Given the description of an element on the screen output the (x, y) to click on. 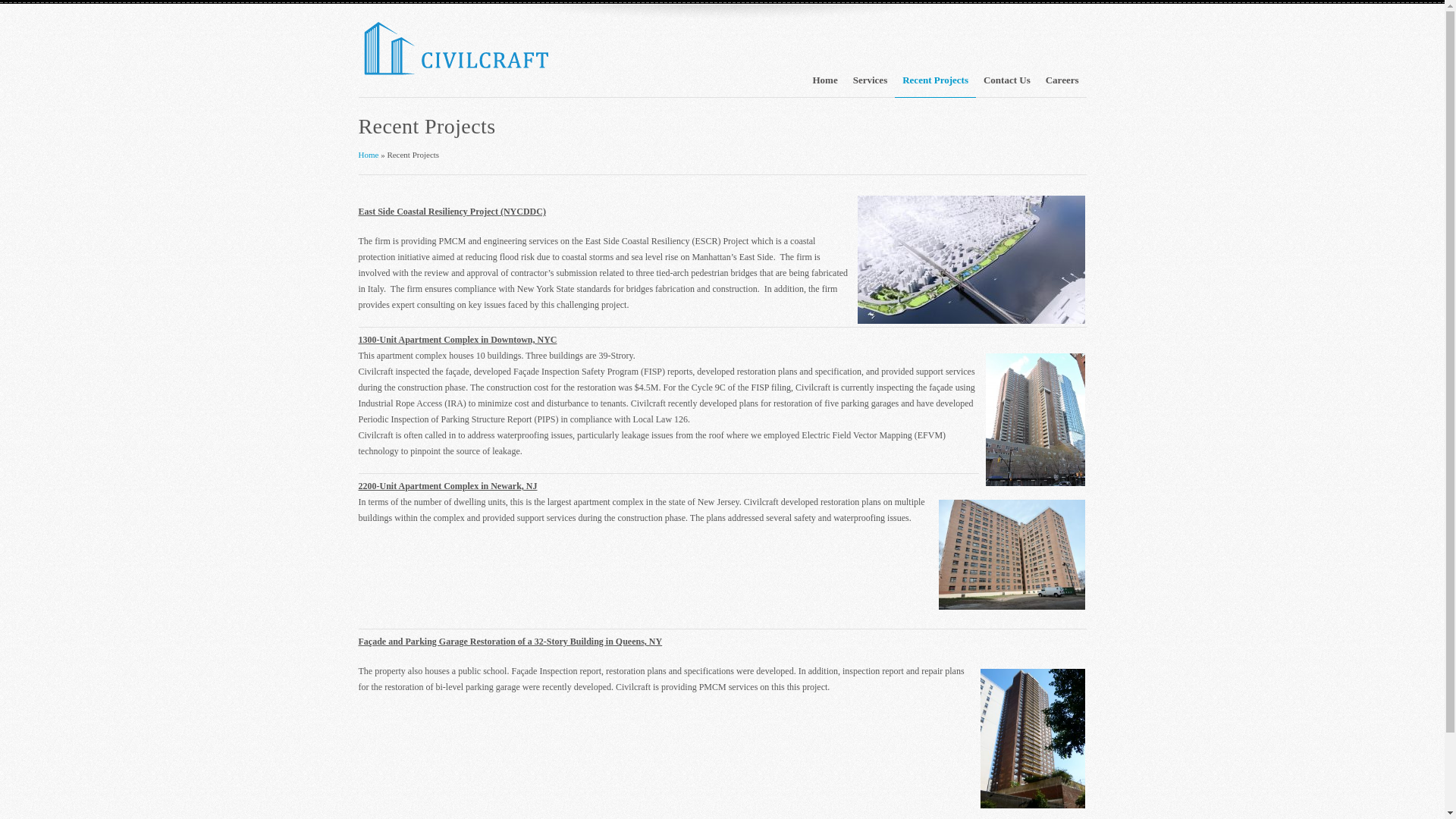
Civilcraft Engineering LLC (368, 153)
Recent Projects (935, 87)
Home (825, 87)
Home (368, 153)
Careers (1062, 87)
Services (870, 87)
Contact Us (1006, 87)
